Given the description of an element on the screen output the (x, y) to click on. 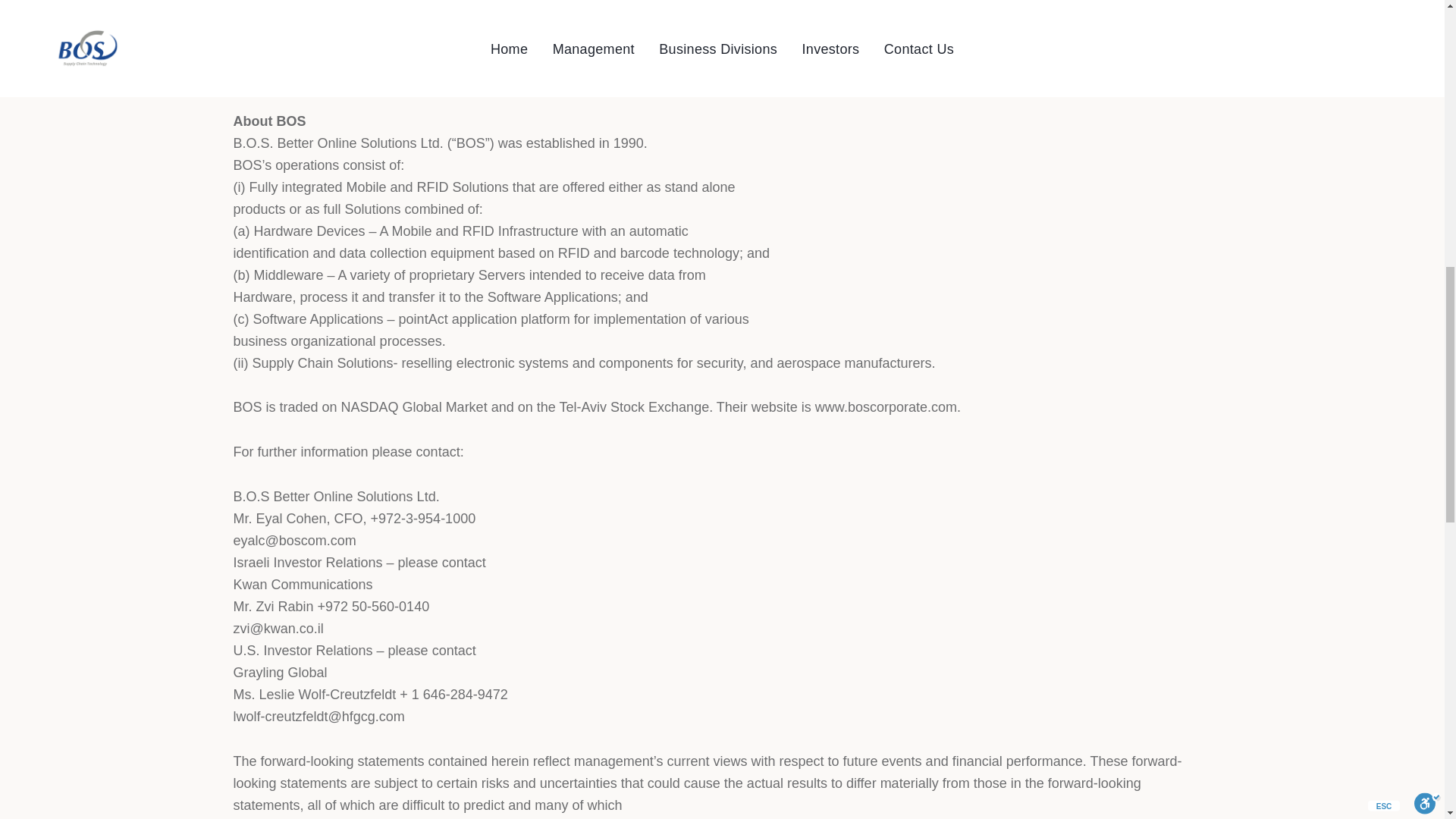
High-contrast presentation of page (392, 32)
Highlighting all headings marked with title tag (652, 32)
Navigation on the screen with the keyboard (46, 32)
High-contrast of black and yellow (478, 32)
Inverting the colors of the screen display (565, 32)
Display the page in brown sepia color (305, 32)
Cancel and Stop display flashes and animations (133, 32)
Highlighting all links marked with link tag (737, 32)
